Given the description of an element on the screen output the (x, y) to click on. 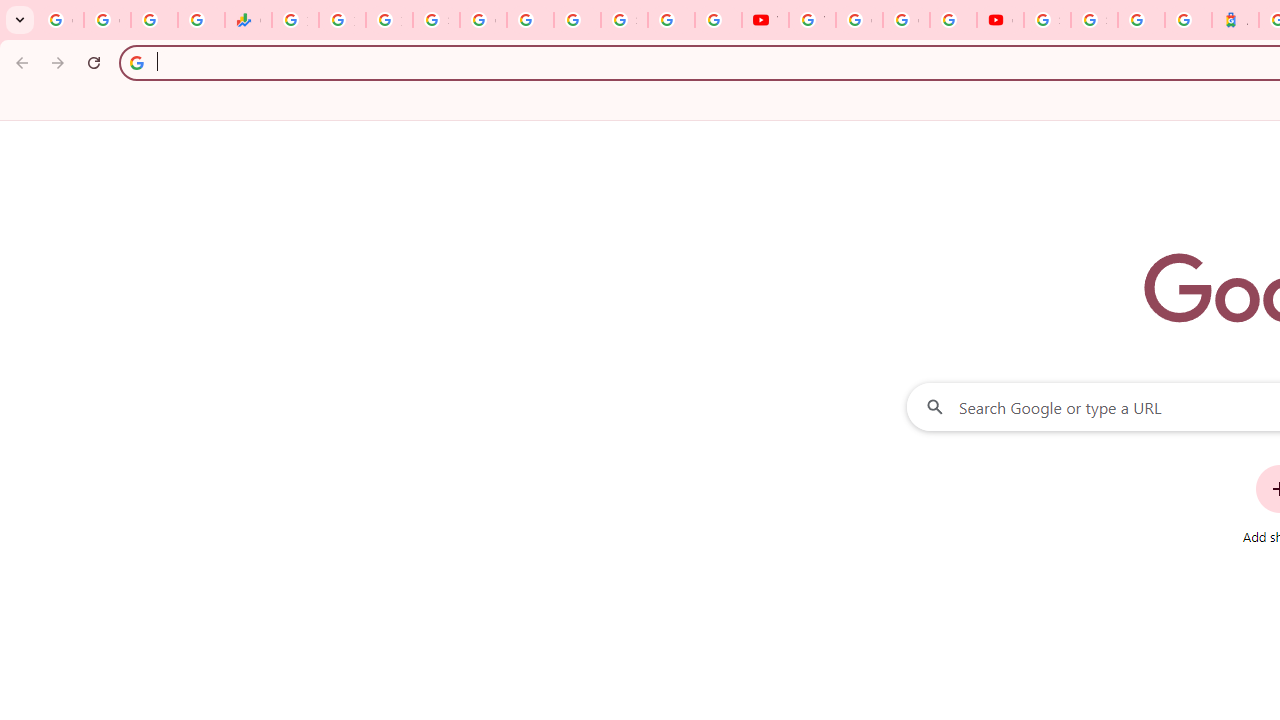
Content Creator Programs & Opportunities - YouTube Creators (999, 20)
Create your Google Account (906, 20)
Sign in - Google Accounts (436, 20)
Atour Hotel - Google hotels (1235, 20)
Sign in - Google Accounts (1094, 20)
